Given the description of an element on the screen output the (x, y) to click on. 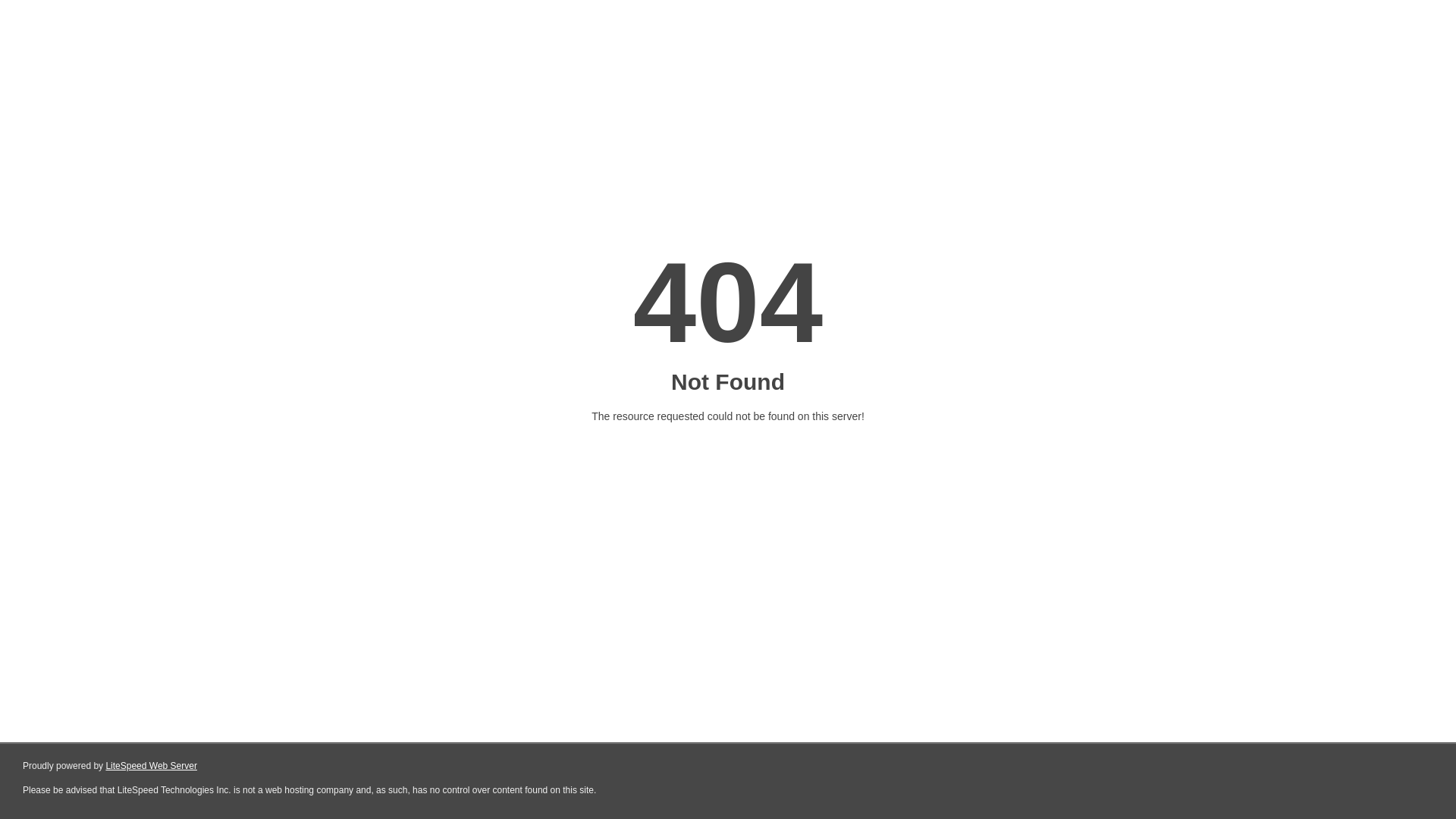
LiteSpeed Web Server Element type: text (151, 765)
